Given the description of an element on the screen output the (x, y) to click on. 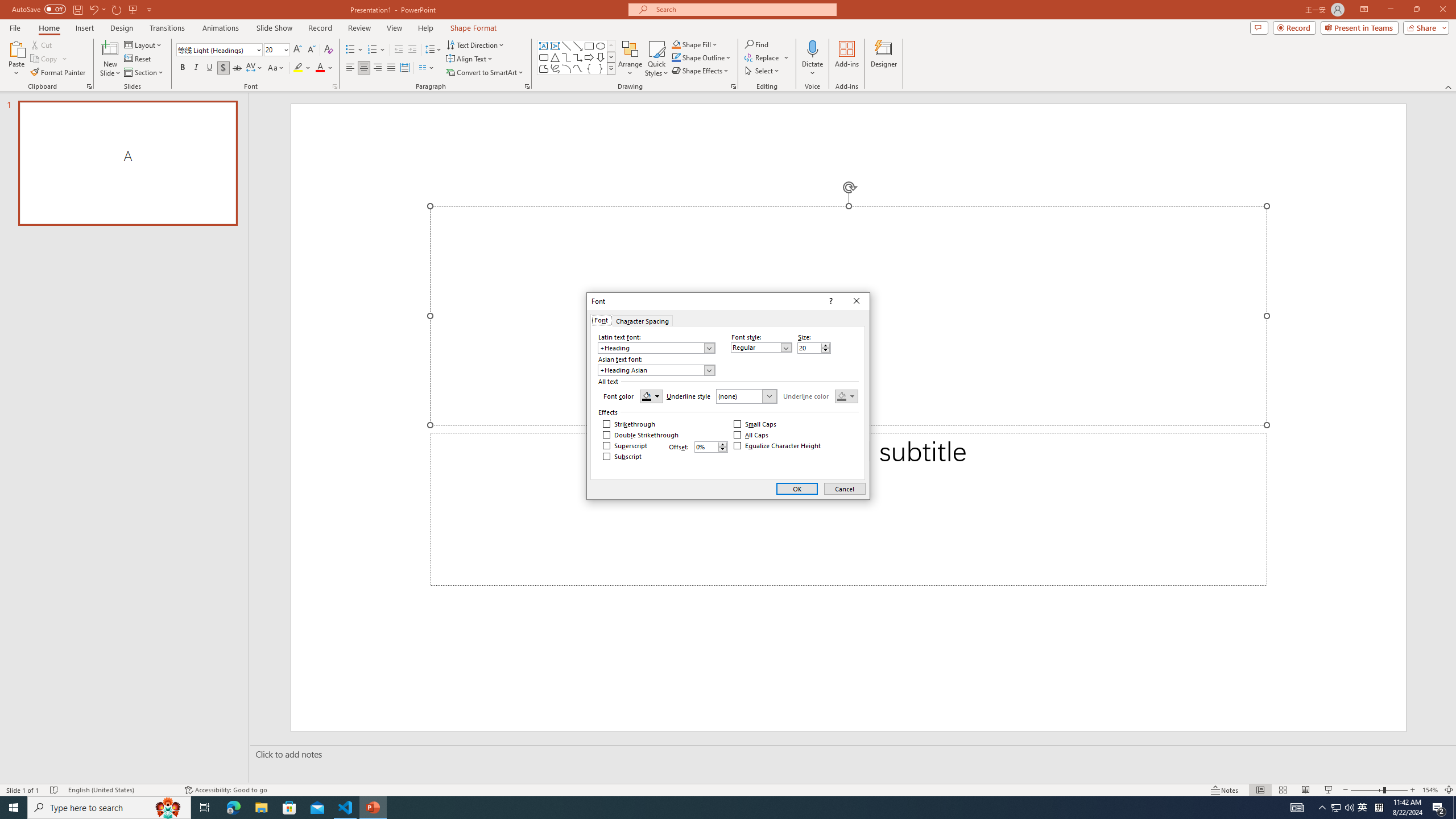
Equalize Character Height (777, 445)
Text Box (543, 45)
Offset (1362, 807)
Shadow (705, 447)
Search highlights icon opens search home window (223, 67)
Increase Indent (167, 807)
Latin text font (412, 49)
Numbering (656, 347)
PowerPoint - 1 running window (372, 49)
Copy (373, 807)
Shape Format (49, 58)
